Given the description of an element on the screen output the (x, y) to click on. 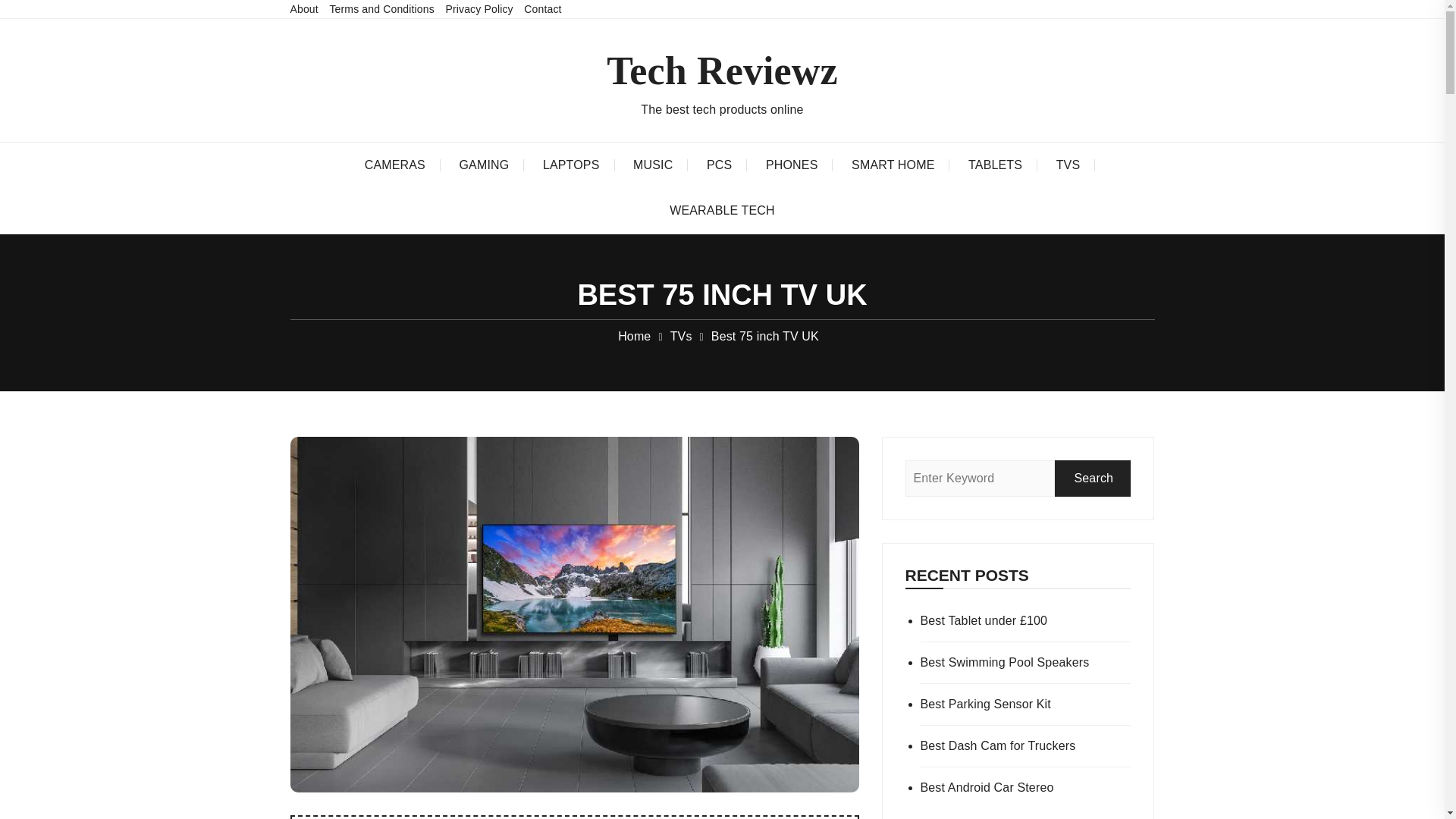
GAMING (484, 165)
Best 75 inch TV UK (764, 336)
TVS (1068, 165)
PCS (718, 165)
PHONES (791, 165)
CAMERAS (395, 165)
WEARABLE TECH (721, 210)
SMART HOME (892, 165)
Search (1092, 478)
About (303, 9)
TVs (681, 336)
Terms and Conditions (381, 9)
Contact (542, 9)
MUSIC (652, 165)
LAPTOPS (570, 165)
